Given the description of an element on the screen output the (x, y) to click on. 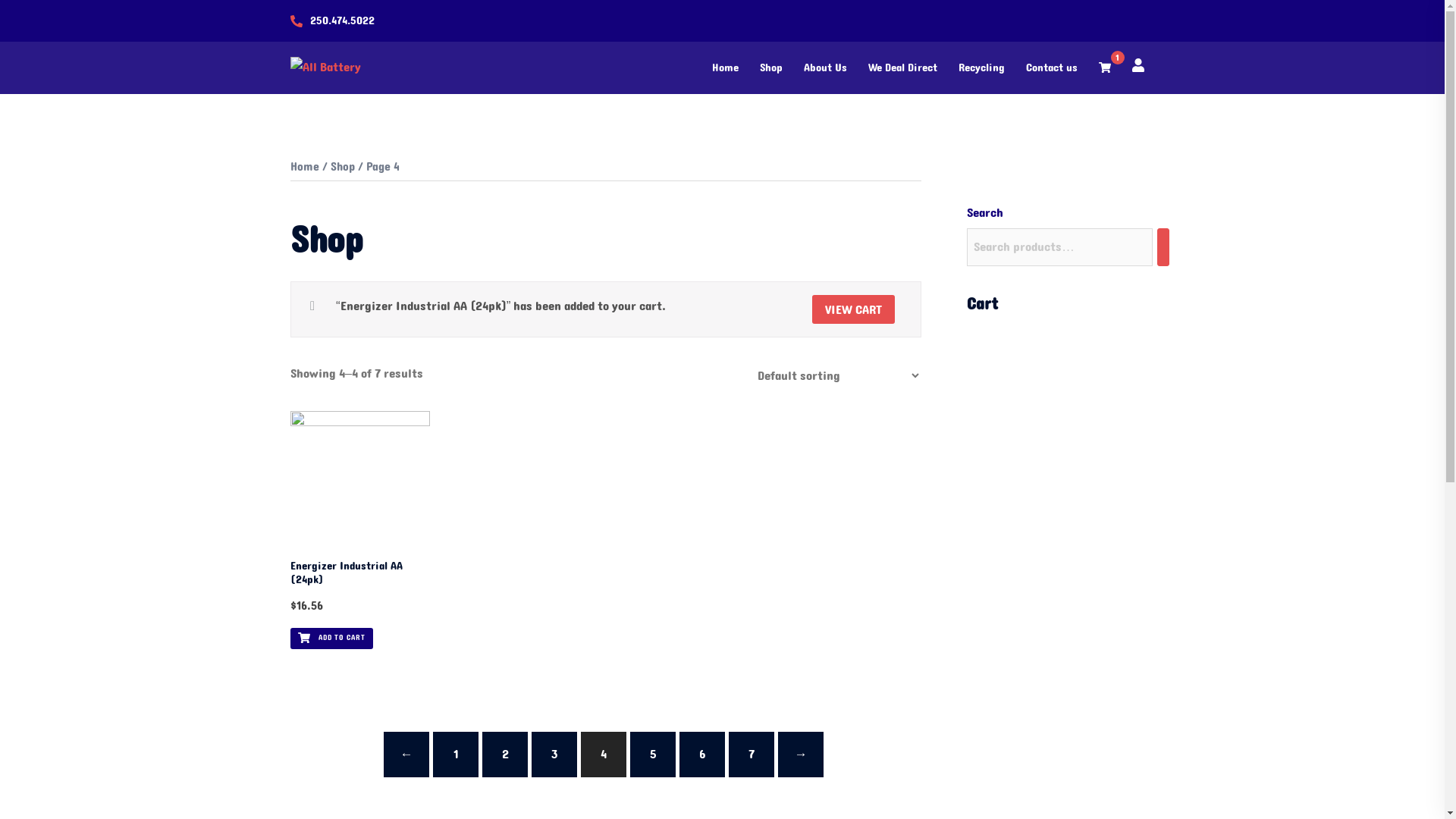
We Deal Direct Element type: text (901, 67)
Energizer Industrial AA (24pk) Element type: text (359, 572)
Login/Register Element type: hover (1137, 64)
3 Element type: text (554, 754)
Recycling Element type: text (981, 67)
Shop Element type: text (342, 166)
1 Element type: text (455, 754)
Home Element type: text (724, 67)
1 Element type: text (1104, 67)
VIEW CART Element type: text (853, 308)
ADD TO CART Element type: text (330, 638)
7 Element type: text (751, 754)
Contact us Element type: text (1050, 67)
2 Element type: text (504, 754)
Shop Element type: text (770, 67)
All Battery Element type: hover (324, 66)
6 Element type: text (701, 754)
Home Element type: text (303, 166)
About Us Element type: text (825, 67)
250.474.5022 Element type: text (341, 20)
5 Element type: text (652, 754)
